Given the description of an element on the screen output the (x, y) to click on. 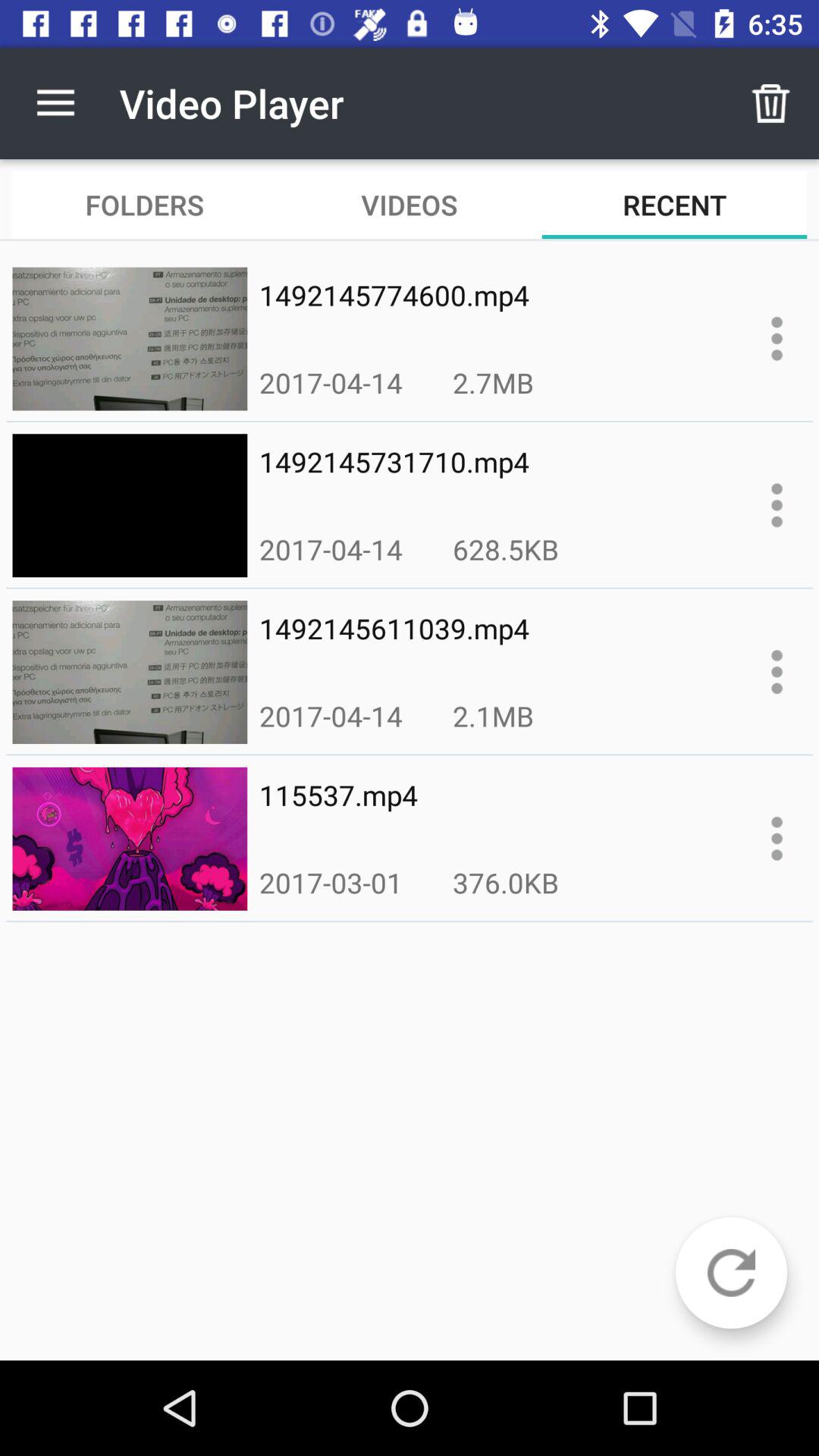
press the item next to the video player icon (771, 103)
